Given the description of an element on the screen output the (x, y) to click on. 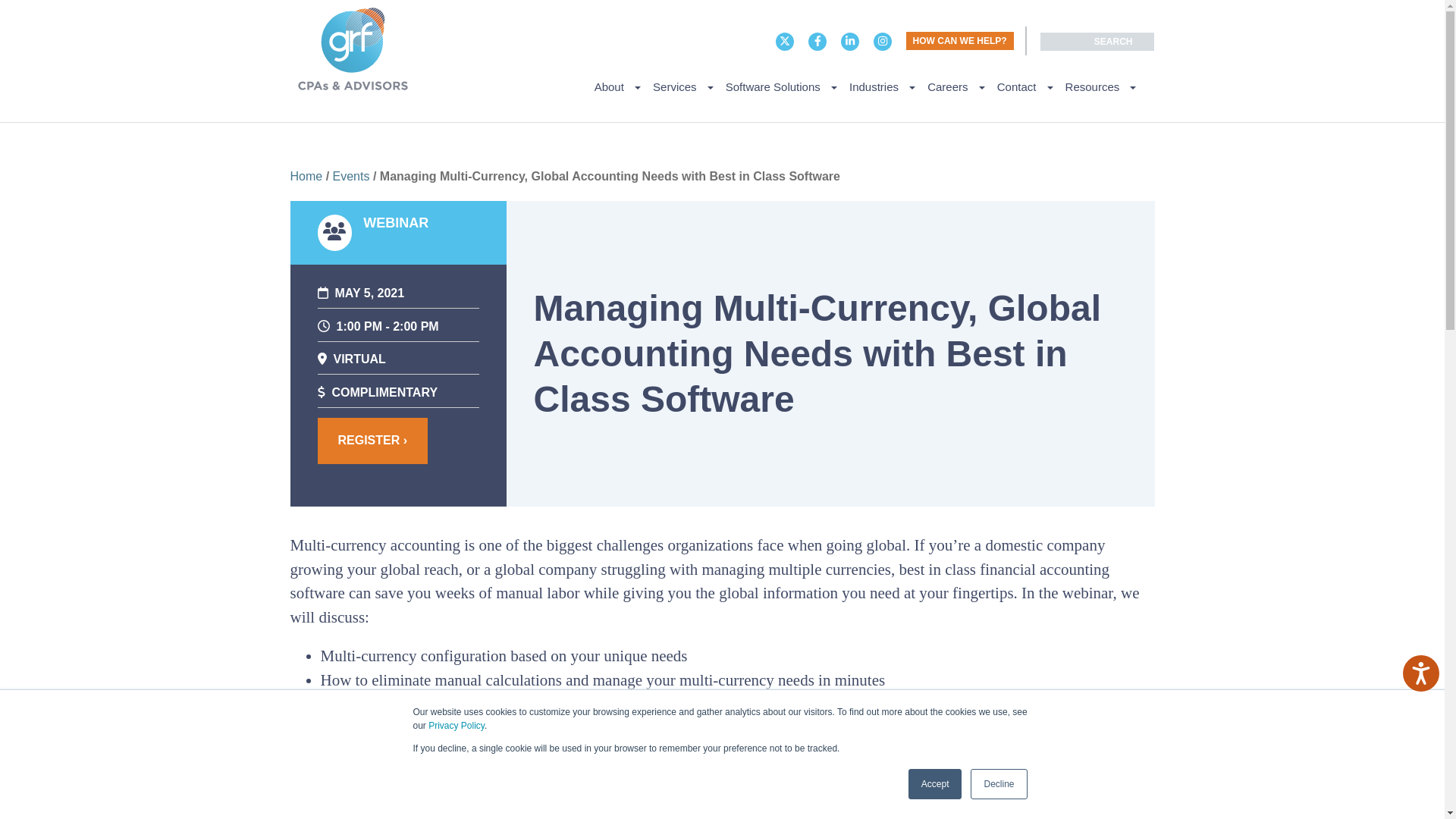
Privacy Policy (456, 725)
Search for: (1097, 41)
Services (682, 86)
About (617, 86)
Accept (935, 784)
HOW CAN WE HELP? (959, 40)
Decline (998, 784)
